Given the description of an element on the screen output the (x, y) to click on. 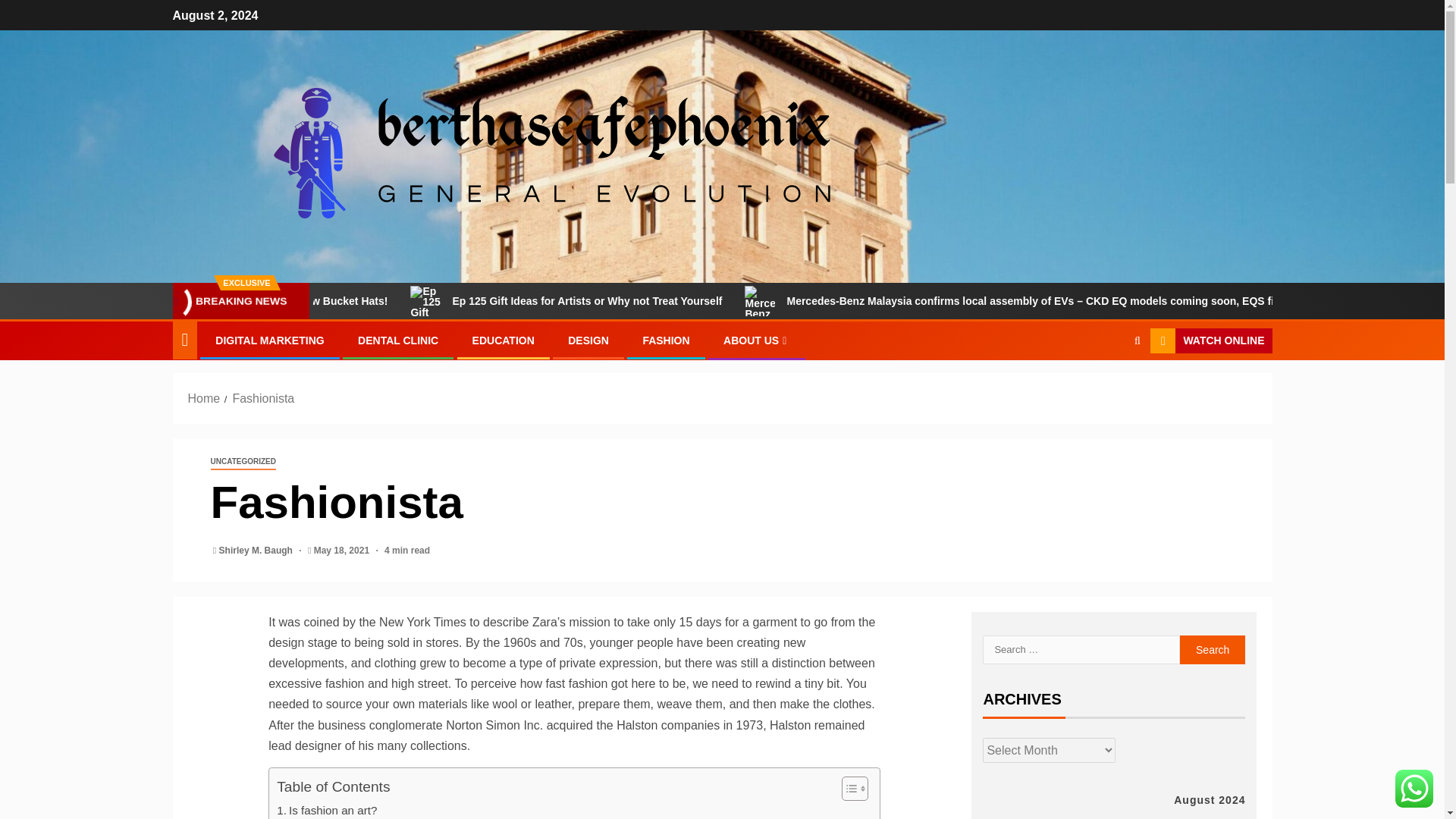
Home (204, 398)
Fashionista (262, 398)
DENTAL CLINIC (398, 340)
DIGITAL MARKETING (269, 340)
FASHION (665, 340)
Search (1107, 387)
Shirley M. Baugh (257, 550)
EDUCATION (502, 340)
Coming Soon: New Bucket Hats! (423, 300)
Is fashion an art? (326, 810)
